Given the description of an element on the screen output the (x, y) to click on. 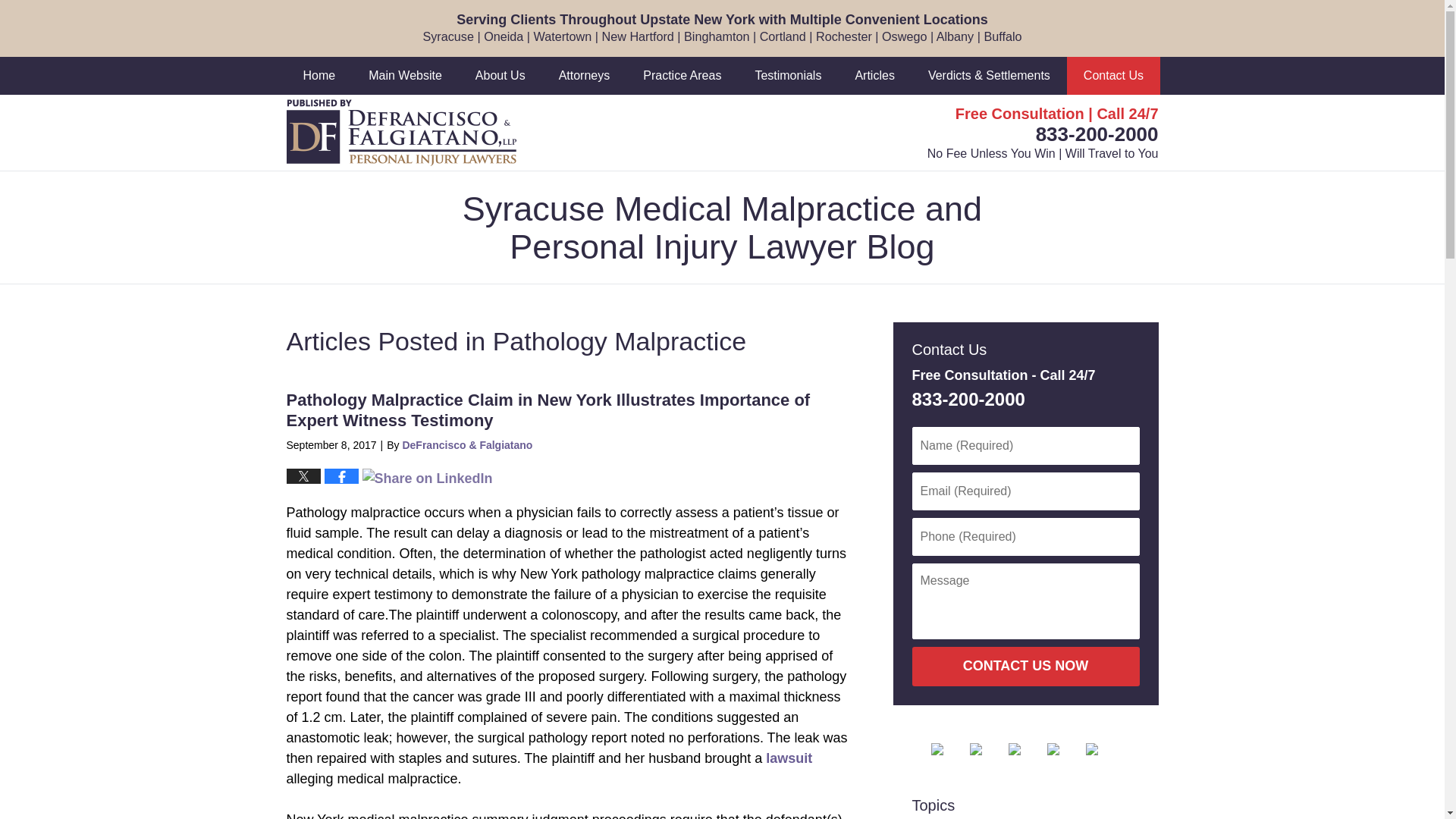
Twitter (986, 748)
About Us (499, 75)
lawsuit (788, 758)
LinkedIn (1026, 748)
Articles (874, 75)
Attorneys (584, 75)
Main Website (405, 75)
Contact Us (1113, 75)
Justia (1063, 748)
